Given the description of an element on the screen output the (x, y) to click on. 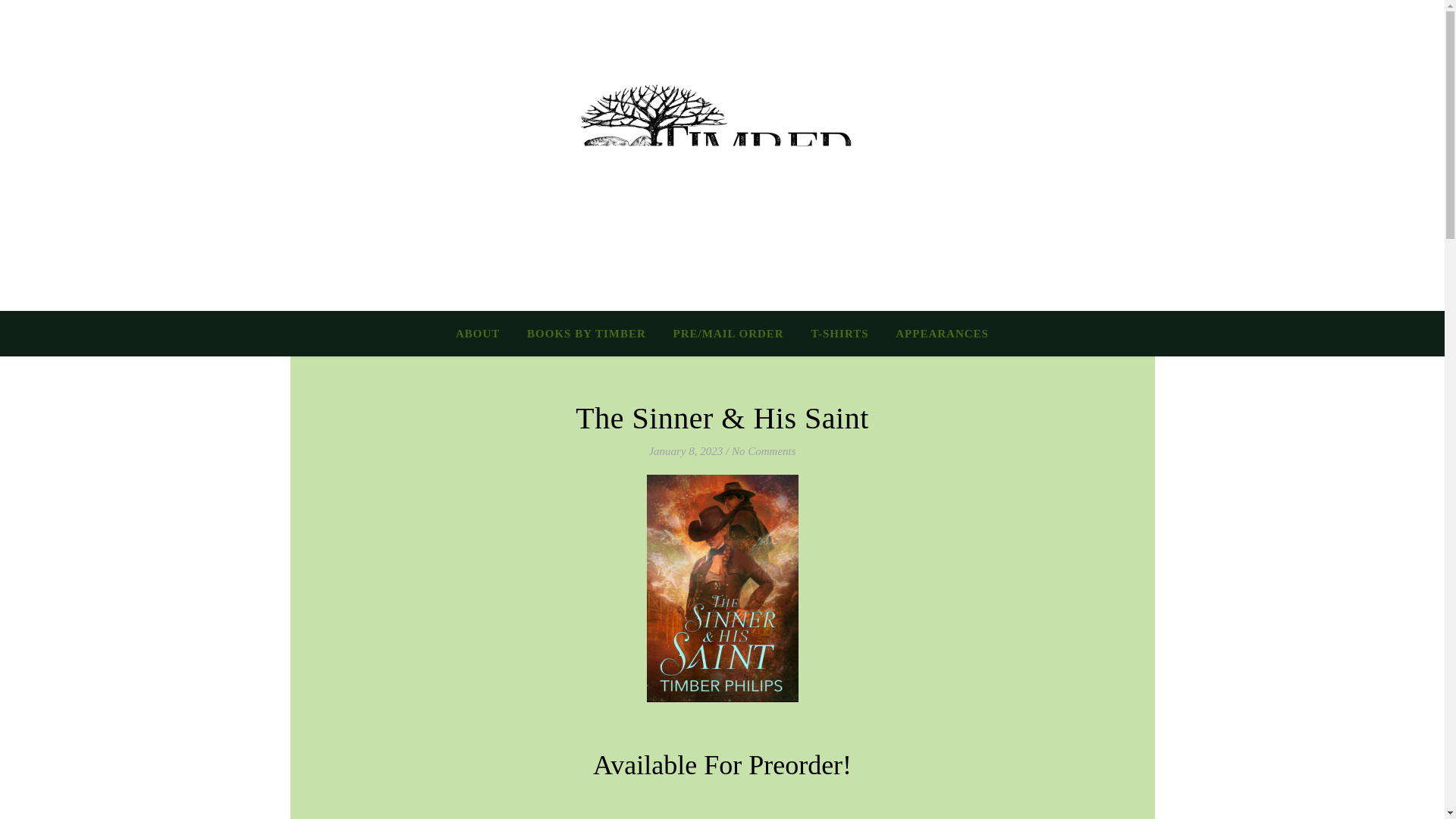
Timber Philips (721, 189)
T-SHIRTS (838, 333)
No Comments (764, 451)
ABOUT (483, 333)
APPEARANCES (935, 333)
BOOKS BY TIMBER (586, 333)
